Given the description of an element on the screen output the (x, y) to click on. 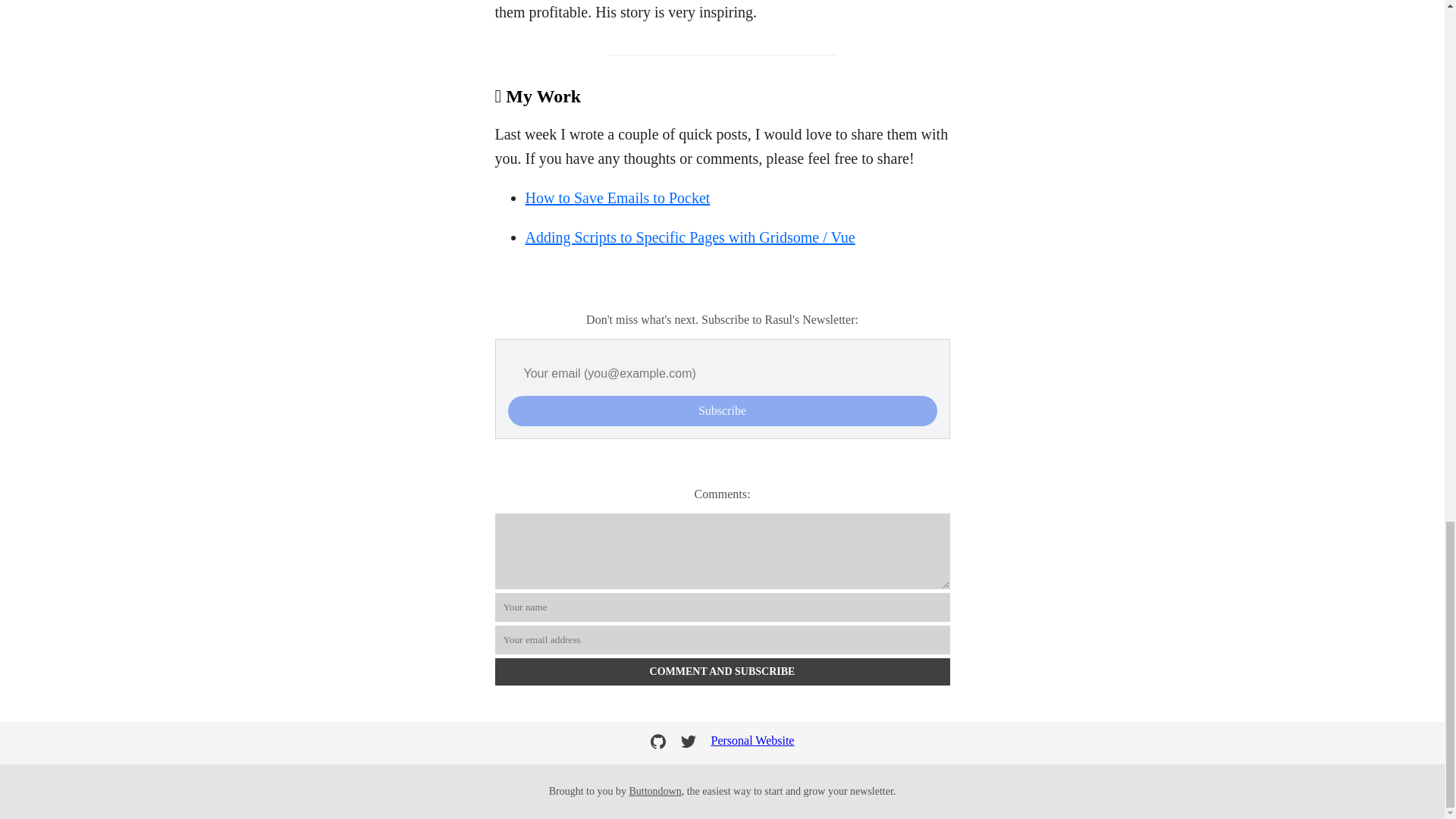
Twitter (688, 741)
GitHub (659, 742)
GitHub (657, 741)
COMMENT AND SUBSCRIBE (722, 671)
Buttondown (654, 790)
How to Save Emails to Pocket (617, 197)
Twitter (689, 742)
Personal Website (752, 742)
